Given the description of an element on the screen output the (x, y) to click on. 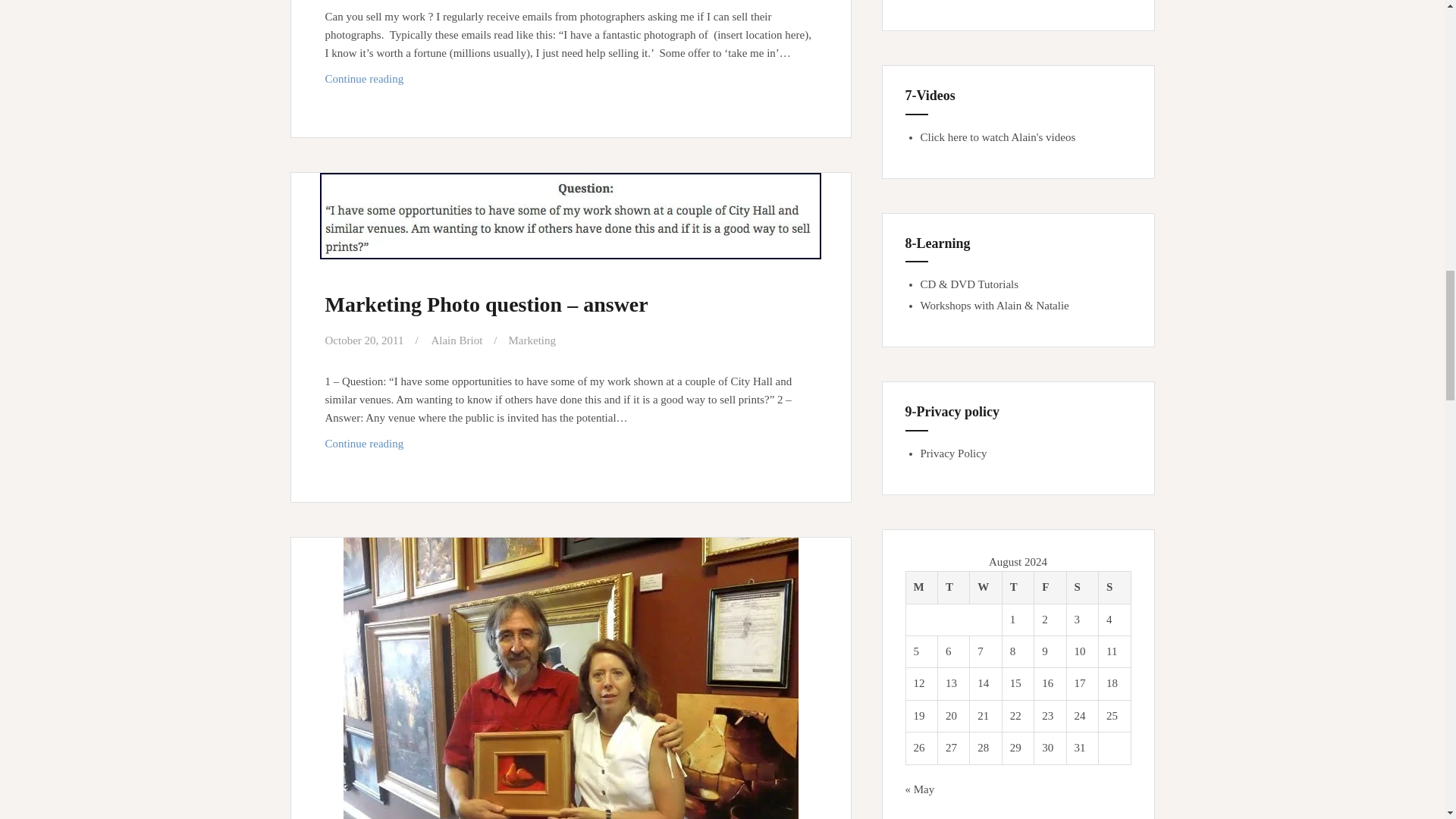
October 20, 2011 (569, 78)
Marketing (363, 340)
Wednesday (532, 340)
Alain Briot (985, 587)
Monday (455, 340)
Tuesday (921, 587)
